Given the description of an element on the screen output the (x, y) to click on. 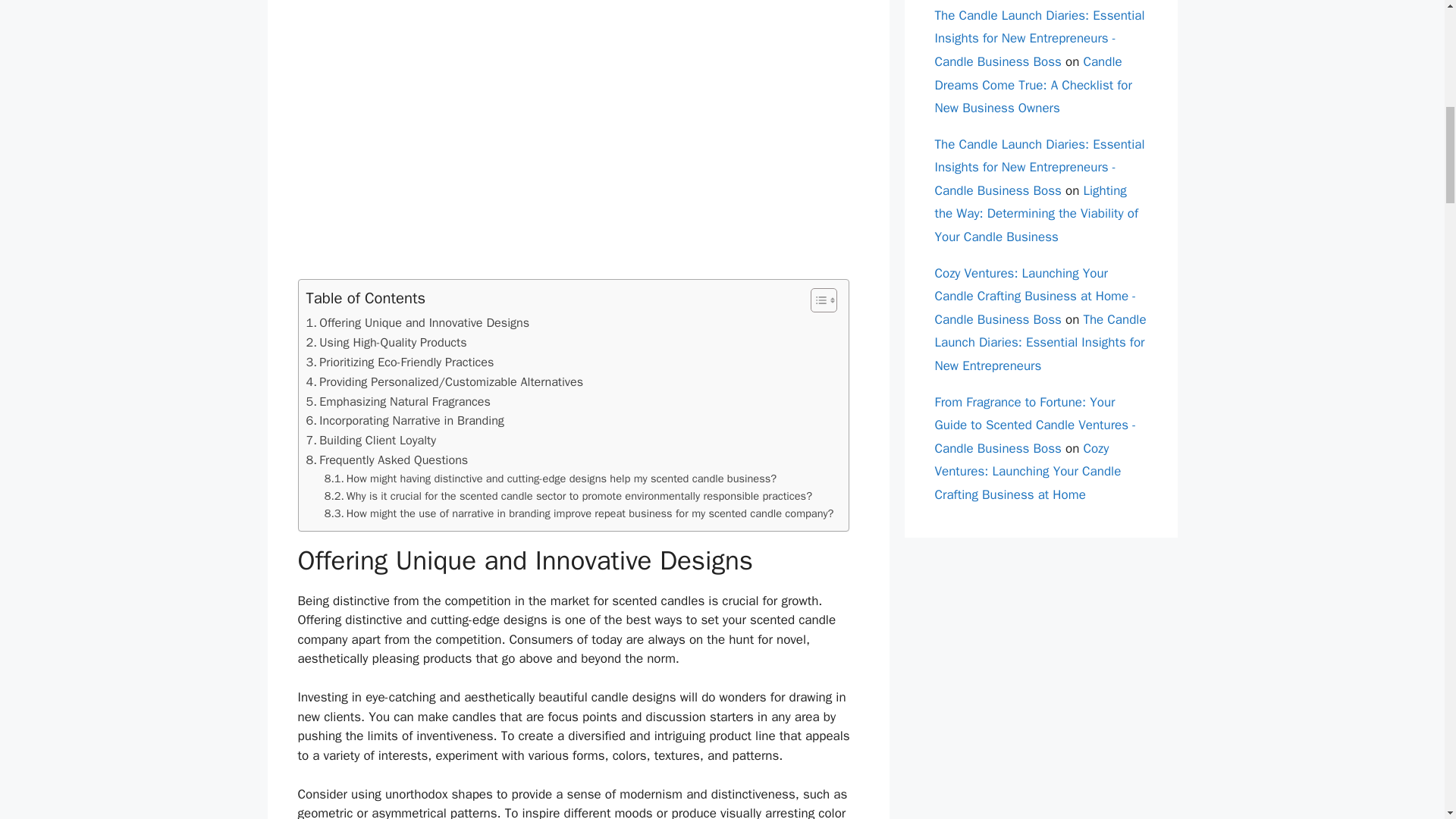
Incorporating Narrative in Branding (404, 420)
Offering Unique and Innovative Designs (417, 322)
Emphasizing Natural Fragrances (397, 401)
Frequently Asked Questions (386, 460)
Using High-Quality Products (386, 342)
Building Client Loyalty (370, 440)
Prioritizing Eco-Friendly Practices (400, 362)
Frequently Asked Questions (386, 460)
Building Client Loyalty (370, 440)
Incorporating Narrative in Branding (404, 420)
Offering Unique and Innovative Designs (417, 322)
Prioritizing Eco-Friendly Practices (400, 362)
Using High-Quality Products (386, 342)
